Given the description of an element on the screen output the (x, y) to click on. 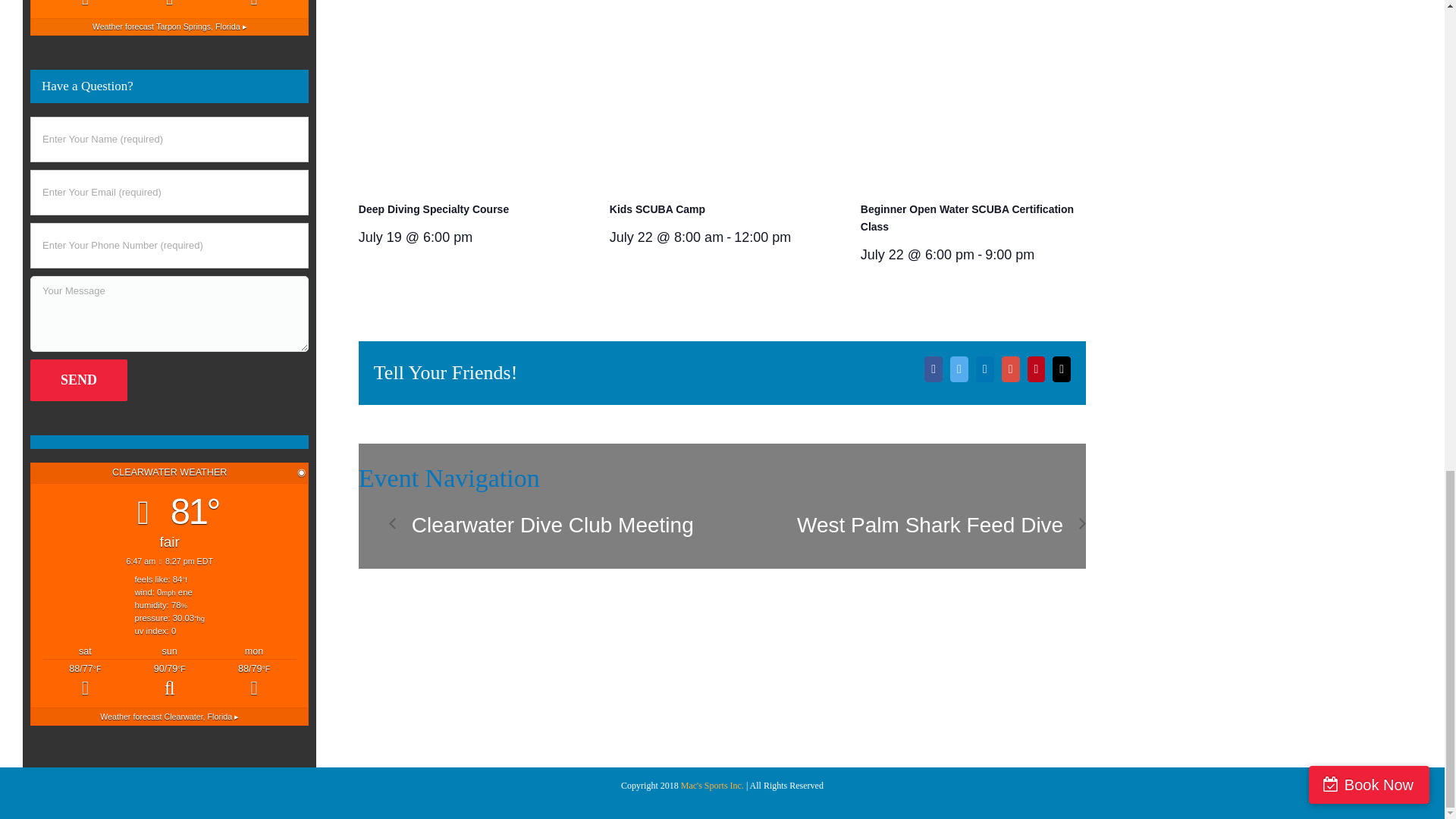
PM Thunderstorms (253, 5)
PM Thunderstorms (169, 5)
Scattered Thunderstorms (85, 5)
Deep Diving Specialty Course (433, 209)
Send (79, 380)
